Given the description of an element on the screen output the (x, y) to click on. 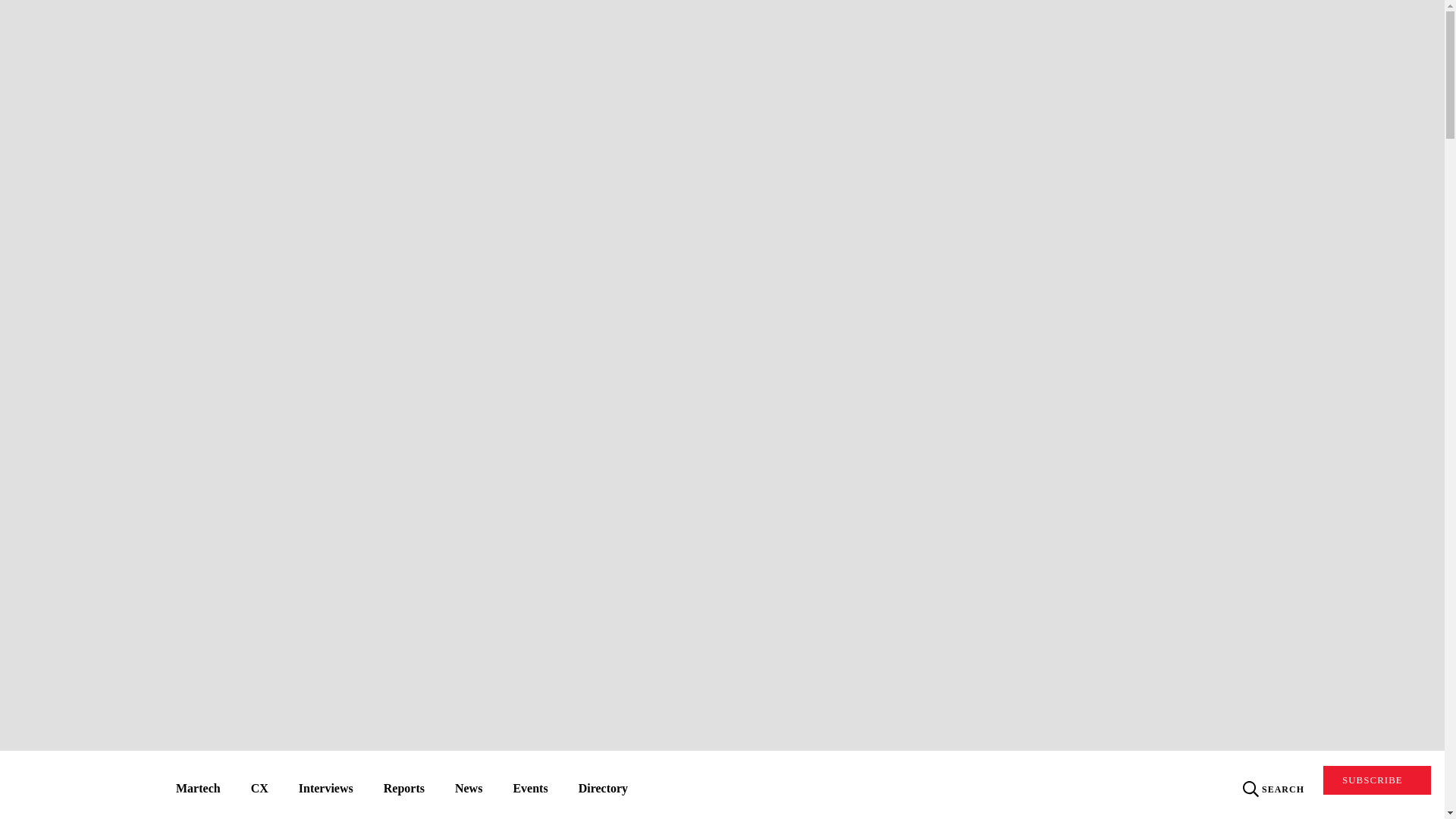
News (468, 789)
SUBSCRIBE (1377, 779)
Martech (197, 789)
Reports (403, 789)
Events (529, 789)
SEARCH (1273, 788)
Directory (603, 789)
Interviews (325, 789)
